Given the description of an element on the screen output the (x, y) to click on. 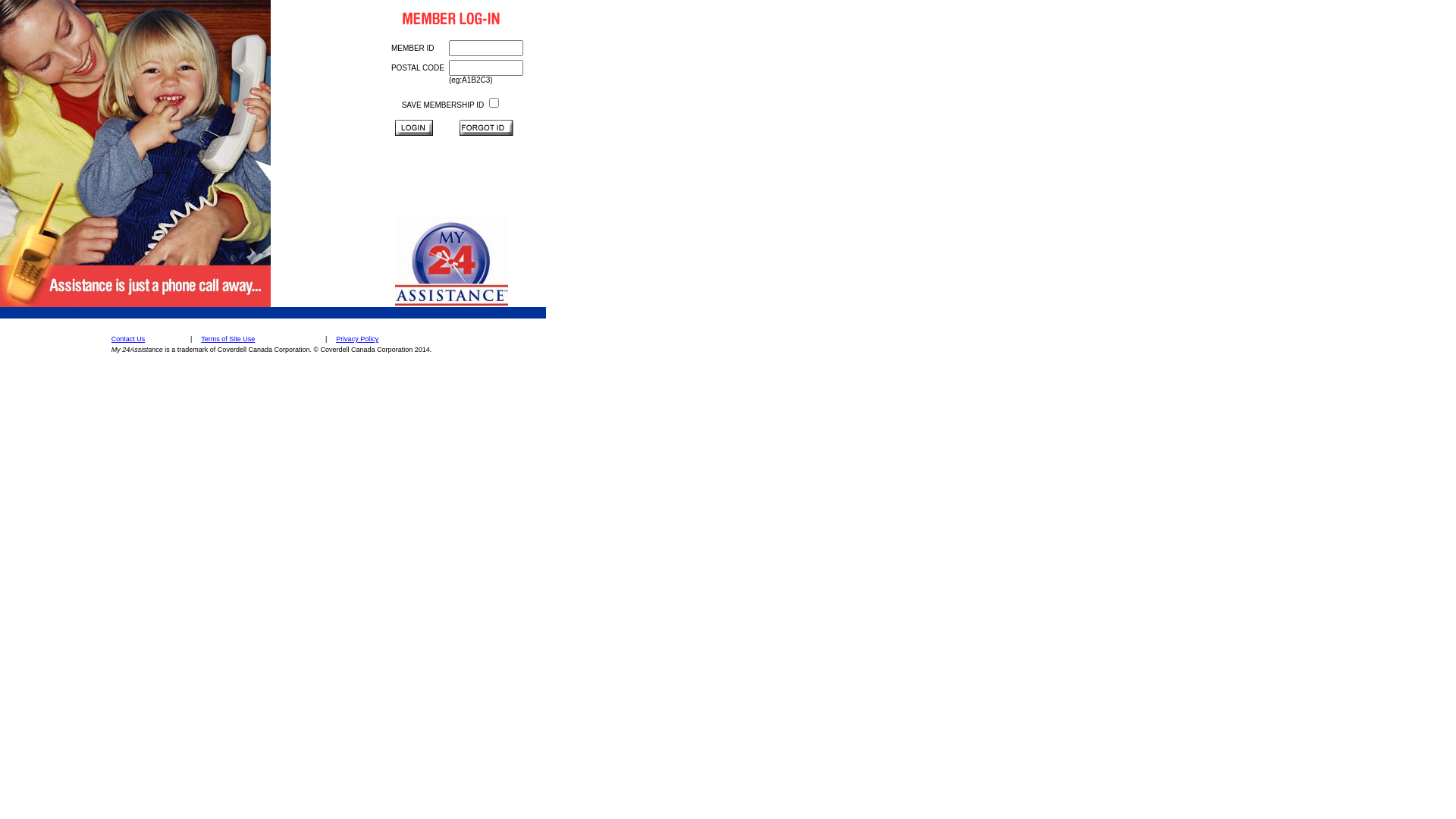
Contact Us Element type: text (129, 338)
Terms of Site Use Element type: text (228, 338)
Privacy Policy Element type: text (357, 338)
